Given the description of an element on the screen output the (x, y) to click on. 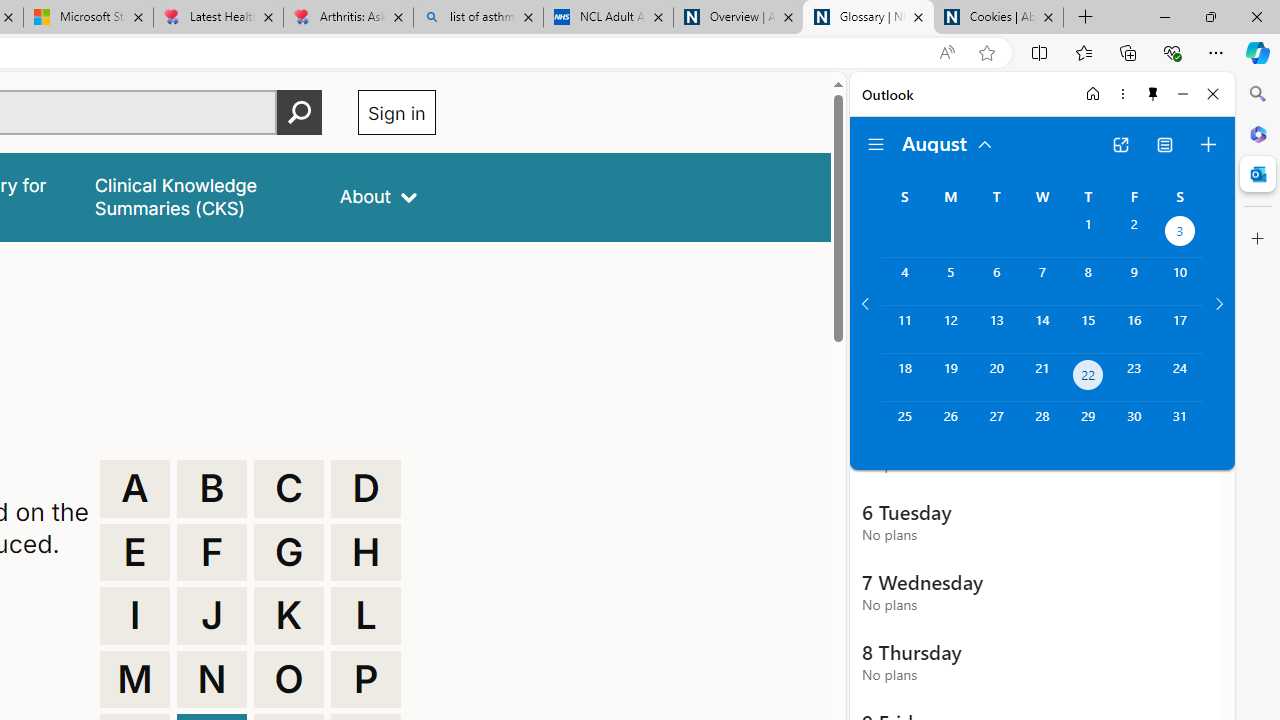
list of asthma inhalers uk - Search (477, 17)
D (365, 488)
Friday, August 2, 2024.  (1134, 233)
P (365, 679)
Copilot (Ctrl+Shift+.) (1258, 52)
Sunday, August 11, 2024.  (904, 329)
Monday, August 5, 2024.  (950, 281)
Thursday, August 1, 2024.  (1088, 233)
Friday, August 30, 2024.  (1134, 425)
Sunday, August 4, 2024.  (904, 281)
A (134, 488)
F (212, 551)
